Given the description of an element on the screen output the (x, y) to click on. 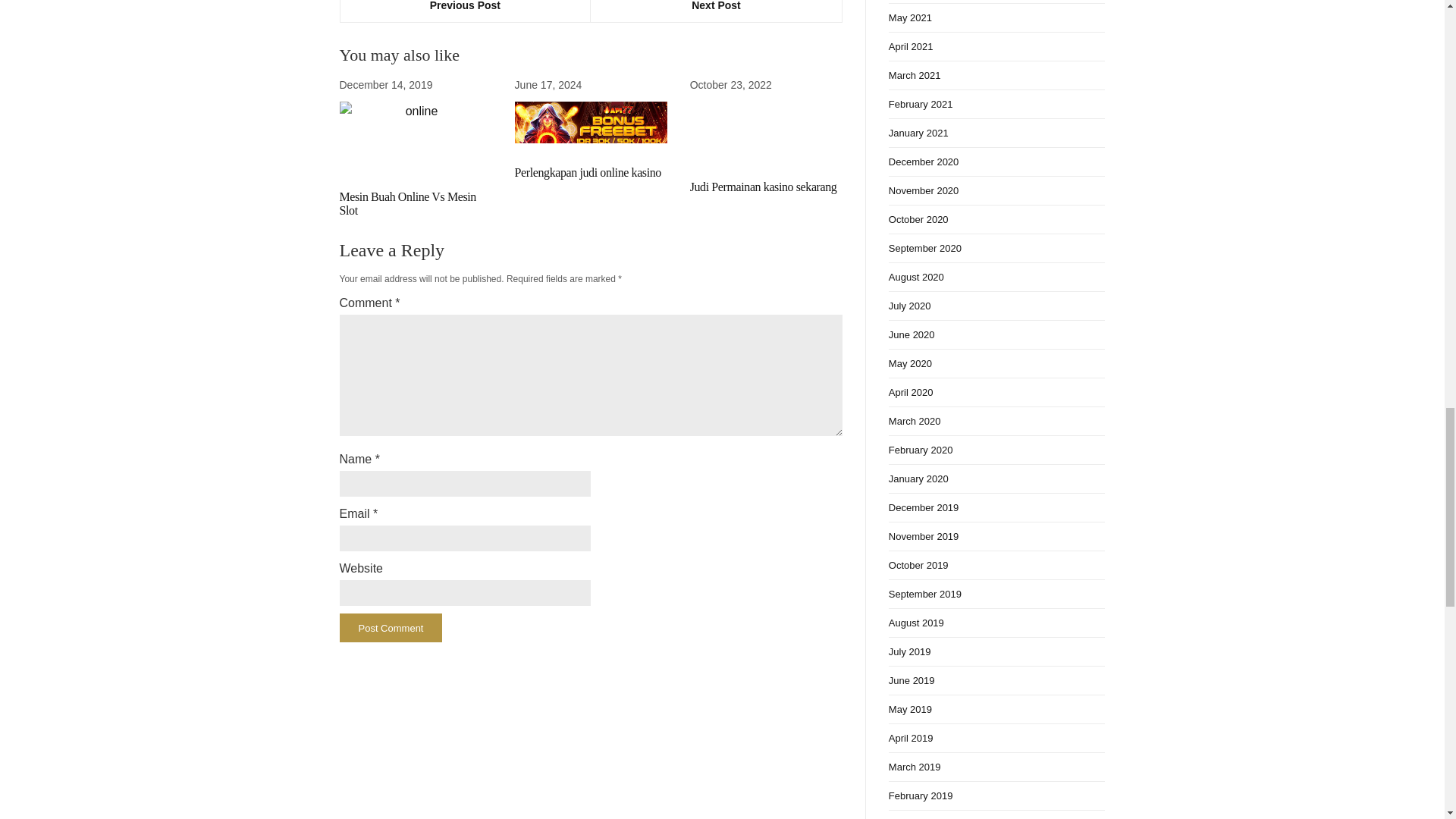
Post Comment (390, 627)
Mesin Buah Online Vs Mesin Slot (407, 203)
Perlengkapan judi online kasino (588, 172)
Previous Post (465, 11)
Post Comment (390, 627)
Next Post (716, 11)
Judi Permainan kasino sekarang (763, 186)
